Given the description of an element on the screen output the (x, y) to click on. 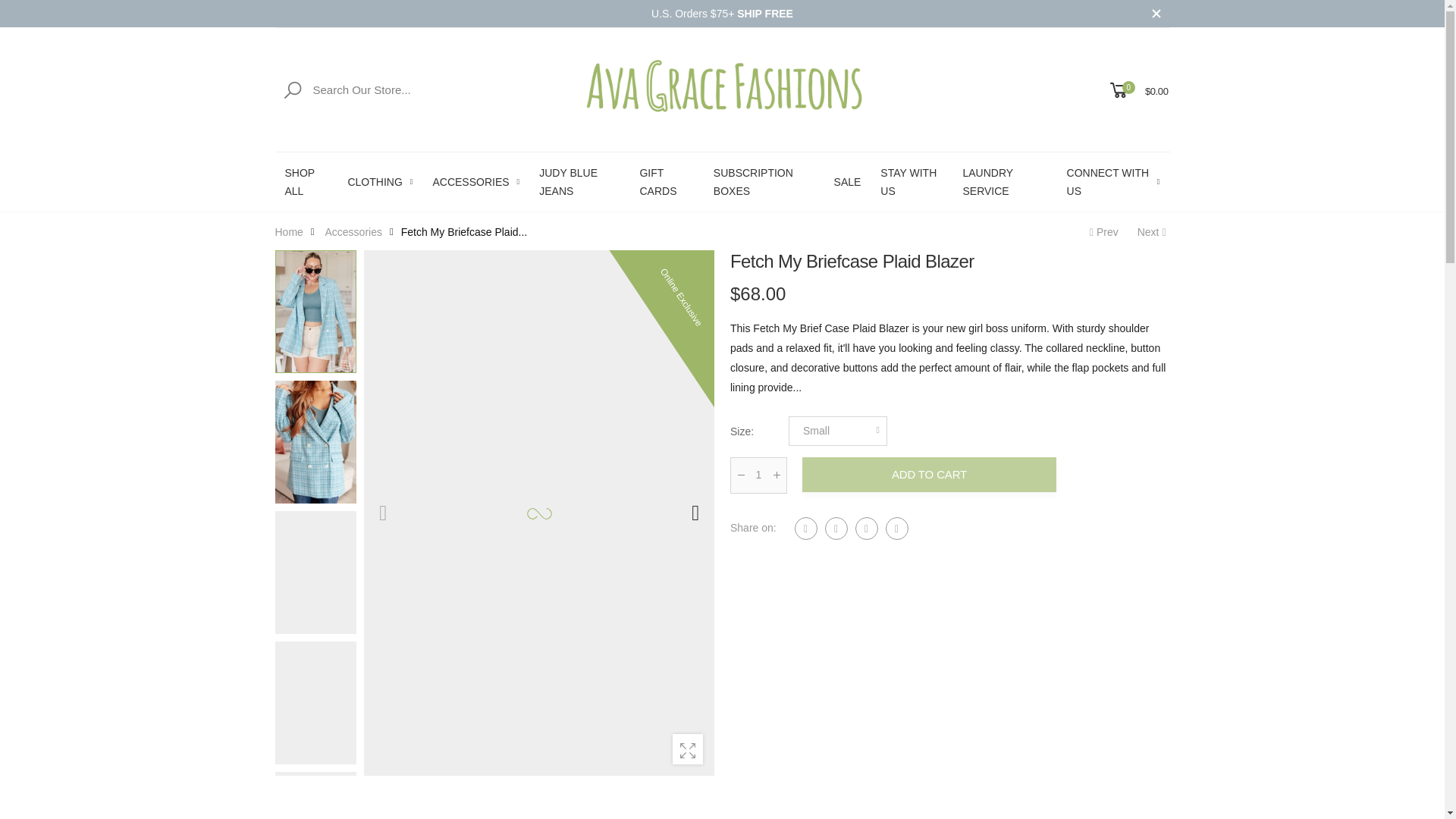
Home (288, 231)
Accessories (352, 231)
What Do You Say Balloon Sleeve Blouse (1153, 231)
SUBSCRIPTION BOXES (763, 181)
CONNECT WITH US (1113, 181)
GIFT CARDS (666, 181)
JUDY BLUE JEANS (579, 181)
Over the Moon Necklace (1102, 231)
LAUNDRY SERVICE (1004, 181)
STAY WITH US (911, 181)
